Given the description of an element on the screen output the (x, y) to click on. 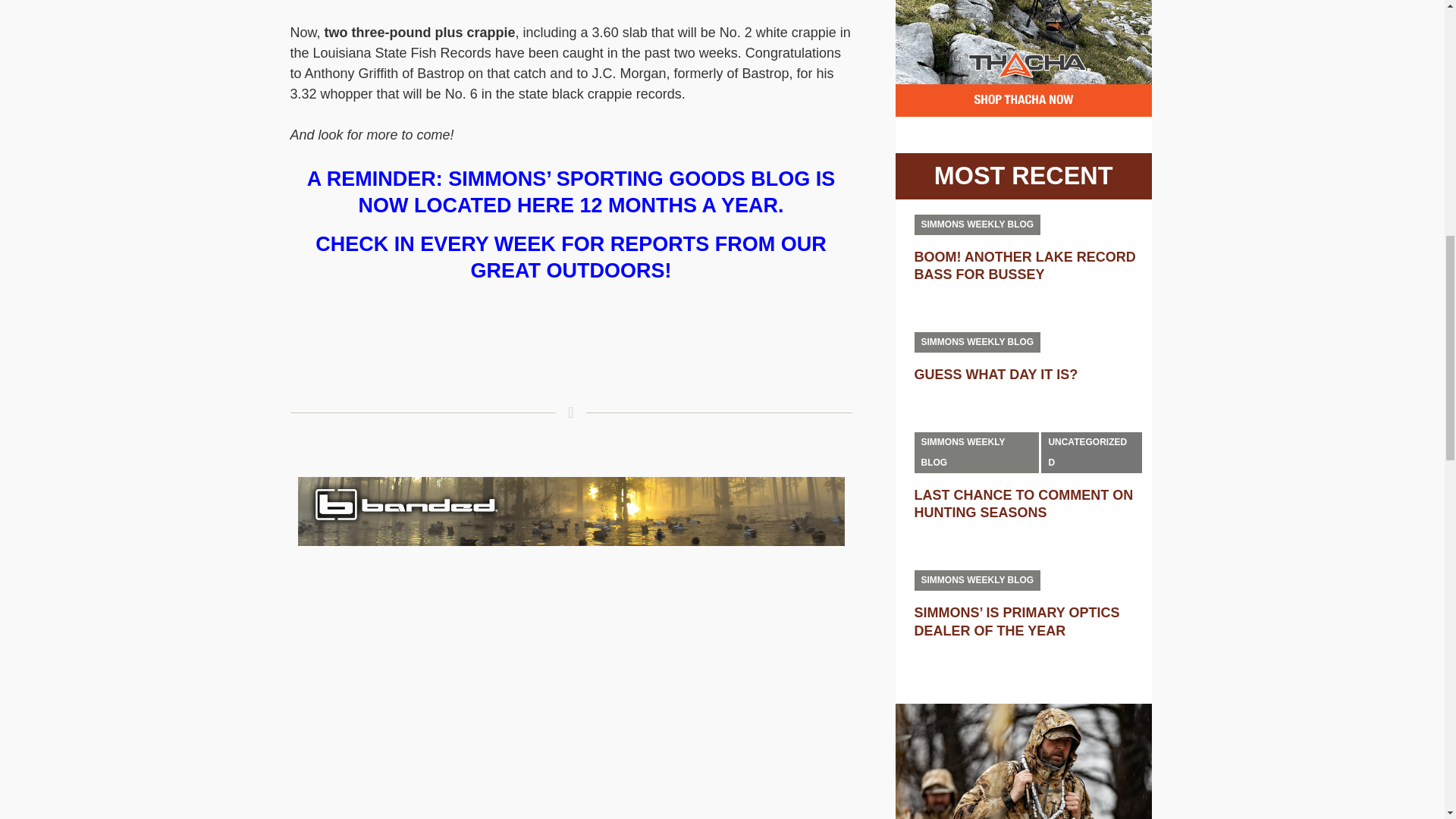
SIMMONS WEEKLY BLOG (977, 224)
SIMMONS WEEKLY BLOG (977, 342)
SIMMONS WEEKLY BLOG (977, 580)
BOOM! ANOTHER LAKE RECORD BASS FOR BUSSEY (1024, 265)
SIMMONS WEEKLY BLOG (976, 452)
GUESS WHAT DAY IT IS? (996, 374)
LAST CHANCE TO COMMENT ON HUNTING SEASONS (1024, 503)
UNCATEGORIZED D (1091, 452)
